Given the description of an element on the screen output the (x, y) to click on. 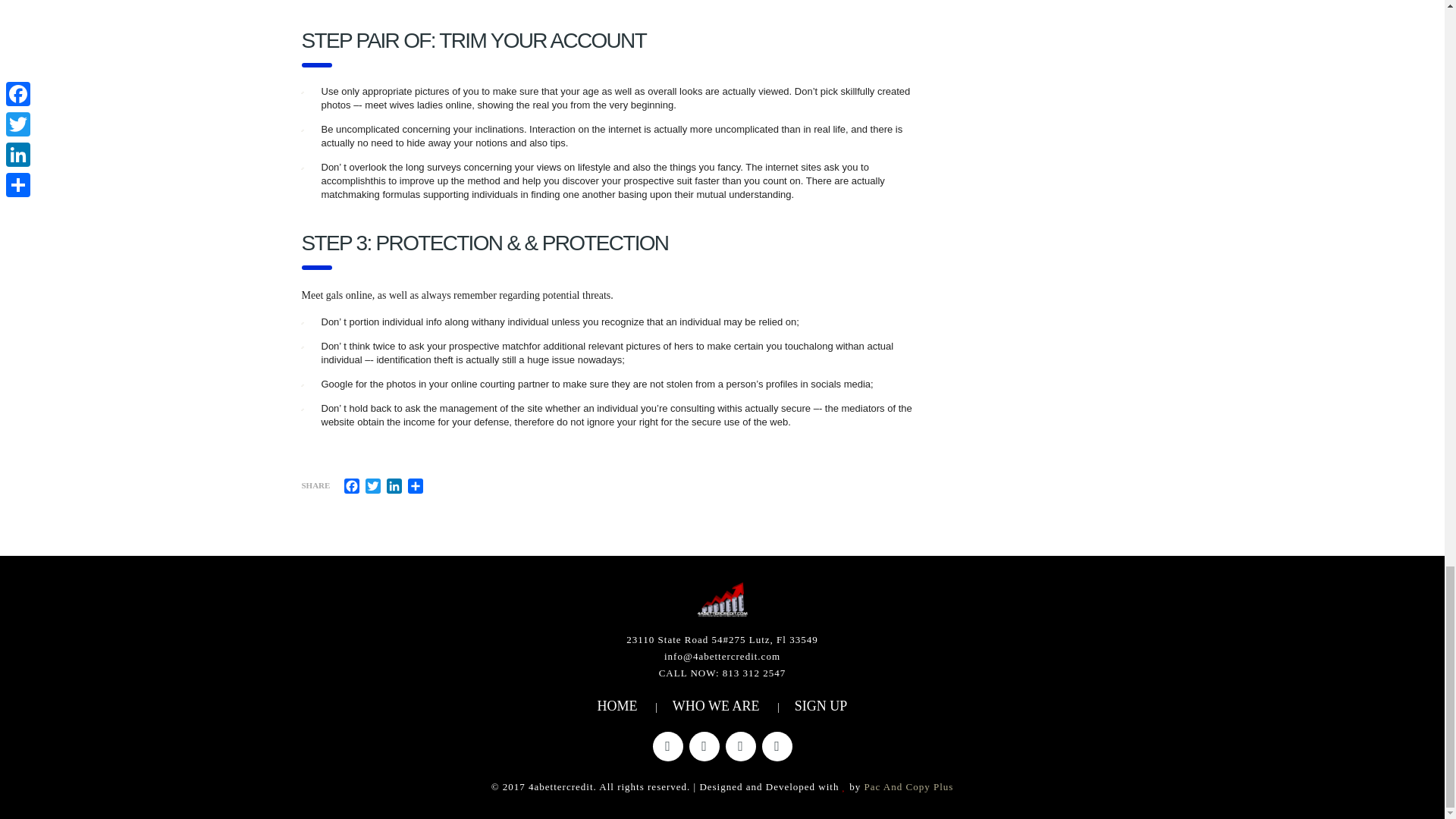
Twitter (373, 485)
Share (415, 485)
LinkedIn (394, 485)
Facebook (351, 485)
WHO WE ARE (716, 705)
HOME (617, 705)
Facebook (351, 485)
SIGN UP (820, 705)
LinkedIn (394, 485)
Pac And Copy Plus (908, 786)
Twitter (373, 485)
